Given the description of an element on the screen output the (x, y) to click on. 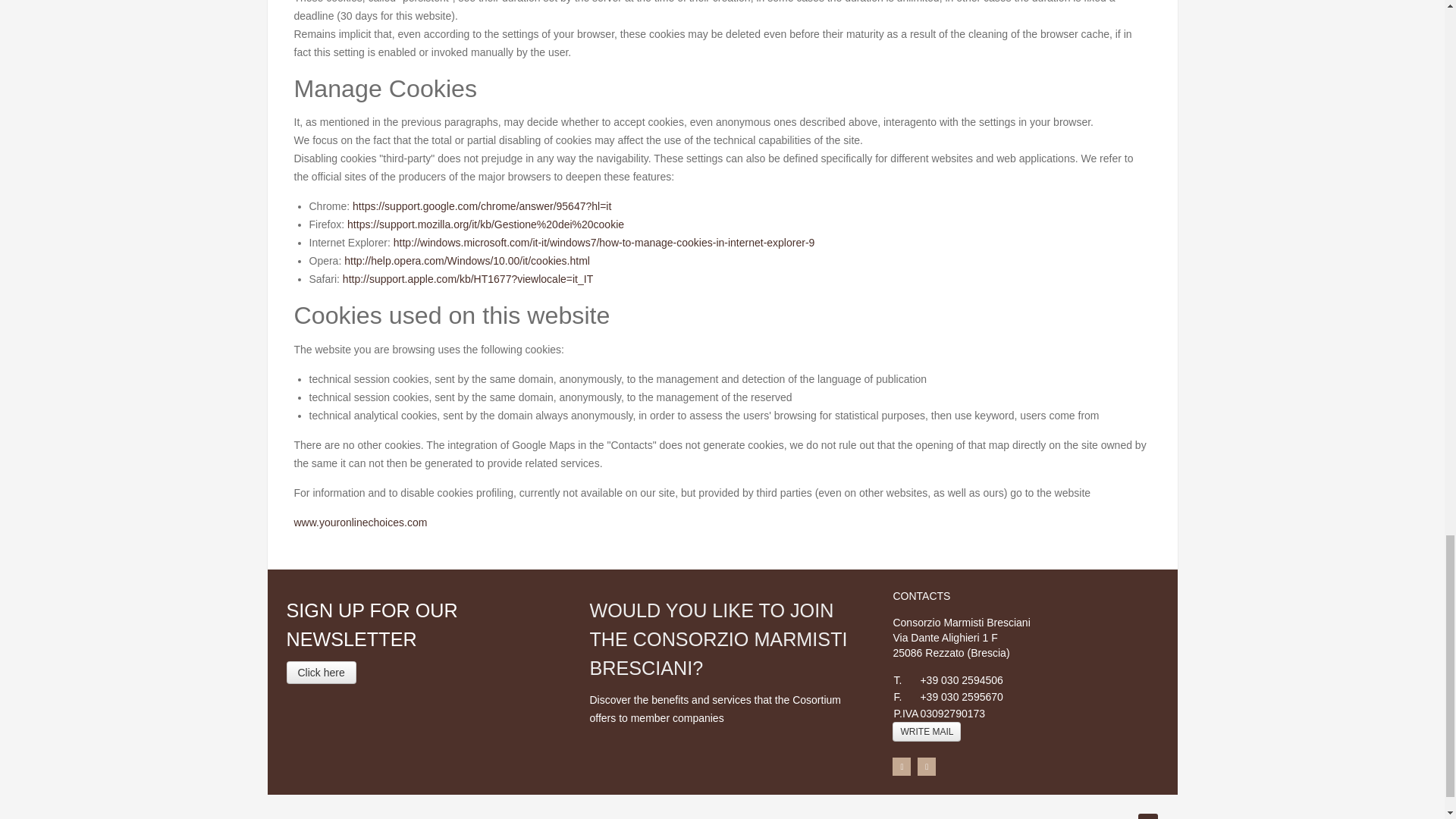
WOULD YOU LIKE TO JOIN THE CONSORZIO MARMISTI BRESCIANI? (718, 638)
Click here (321, 671)
www.youronlinechoices.com (361, 521)
S-D Consulting (654, 818)
La Violaciocca (754, 818)
WRITE MAIL (926, 731)
